Given the description of an element on the screen output the (x, y) to click on. 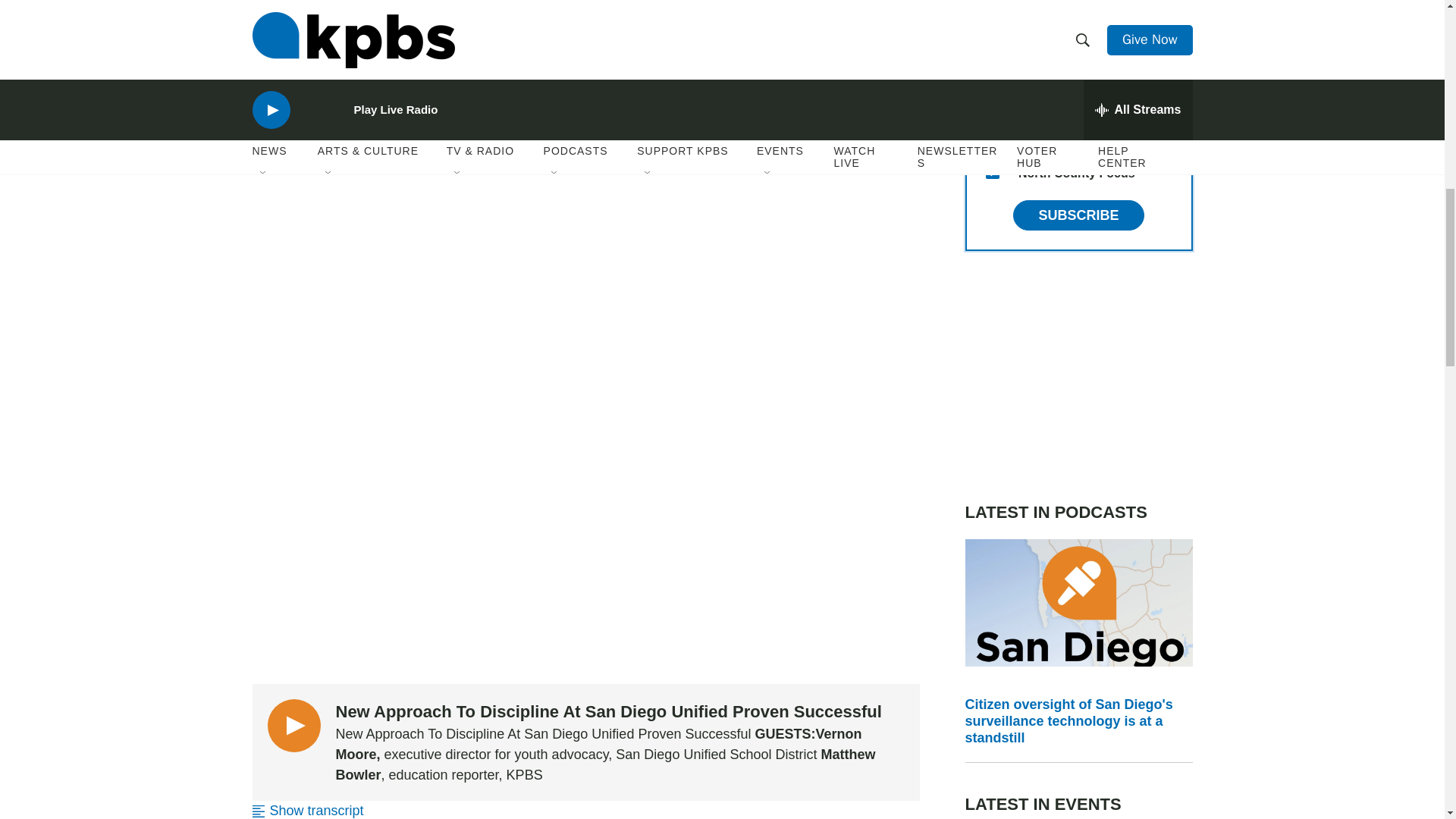
2 (991, 62)
6 (991, 26)
1 (991, 99)
15 (991, 172)
8 (991, 135)
